Given the description of an element on the screen output the (x, y) to click on. 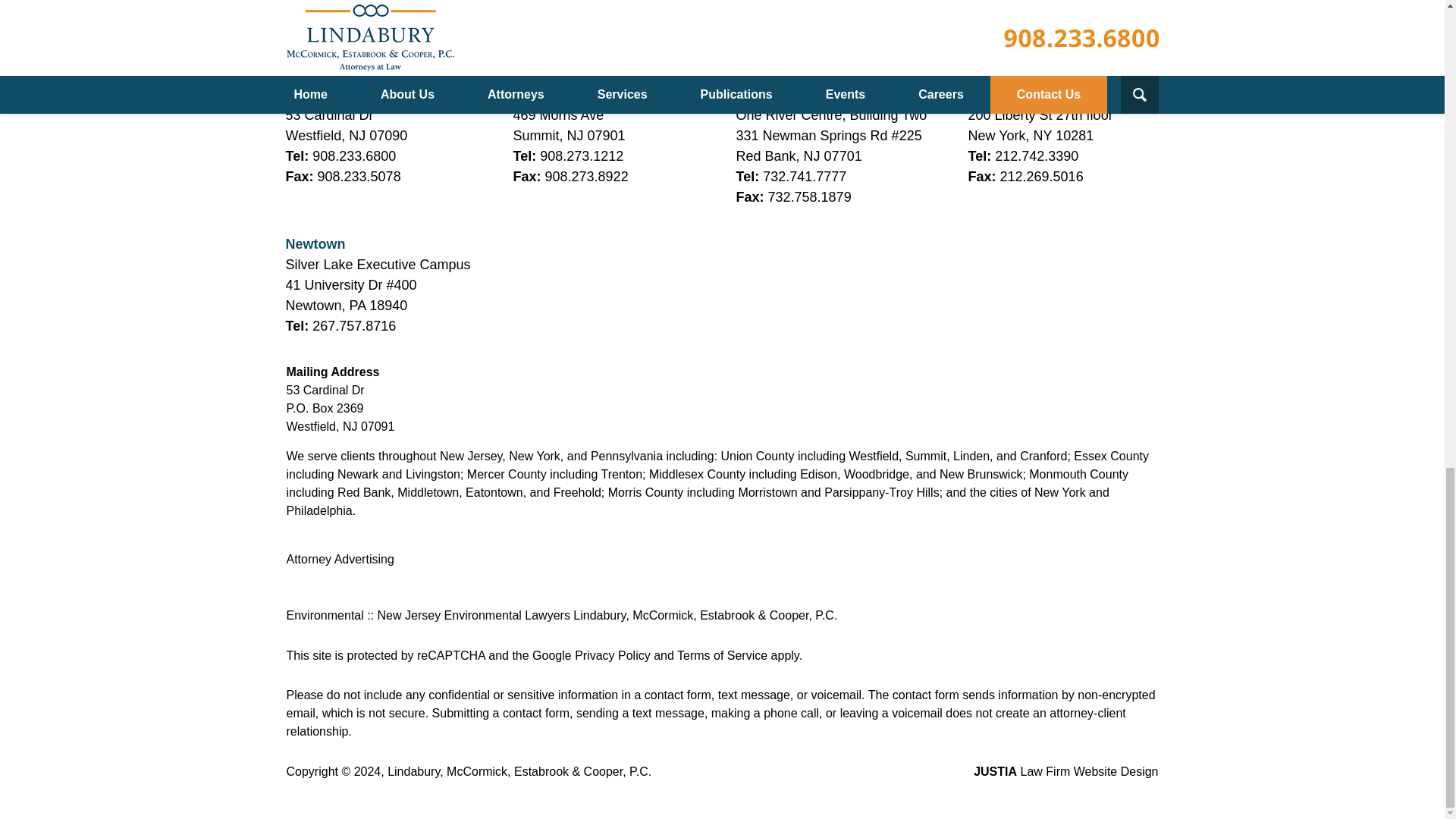
E-Alerts (381, 63)
LinkedIn (381, 36)
Justia (420, 36)
YouTube (303, 63)
Twitter (341, 36)
Facebook (303, 36)
Instagram (341, 63)
